Given the description of an element on the screen output the (x, y) to click on. 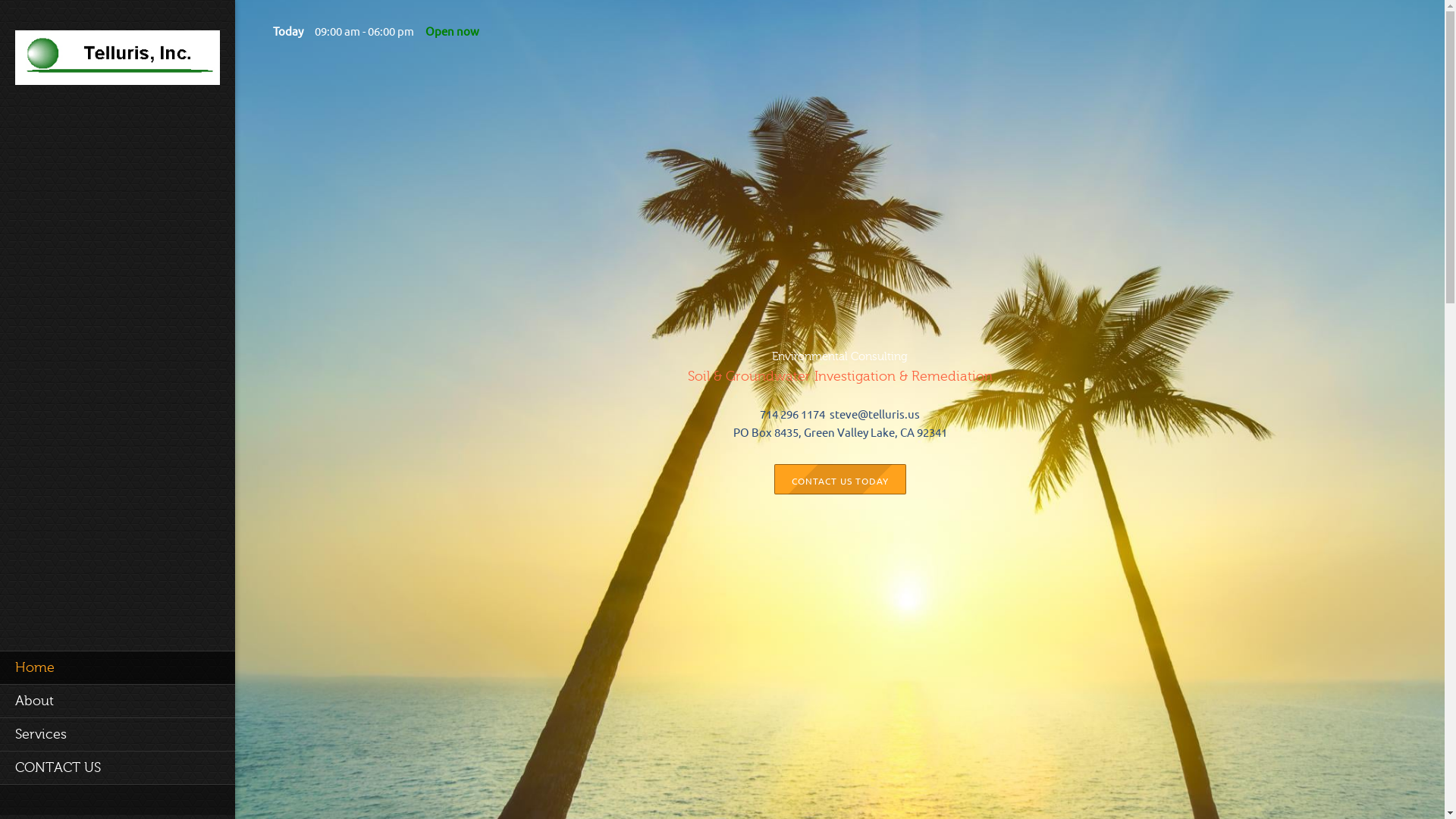
About (117, 700)
Services (117, 734)
CONTACT US (117, 767)
Main (117, 666)
CONTACT US TODAY (839, 477)
About (117, 700)
Go to site home page (116, 62)
CONTACT US (117, 767)
Go to site home page (116, 57)
Home (117, 666)
Services (117, 734)
